Given the description of an element on the screen output the (x, y) to click on. 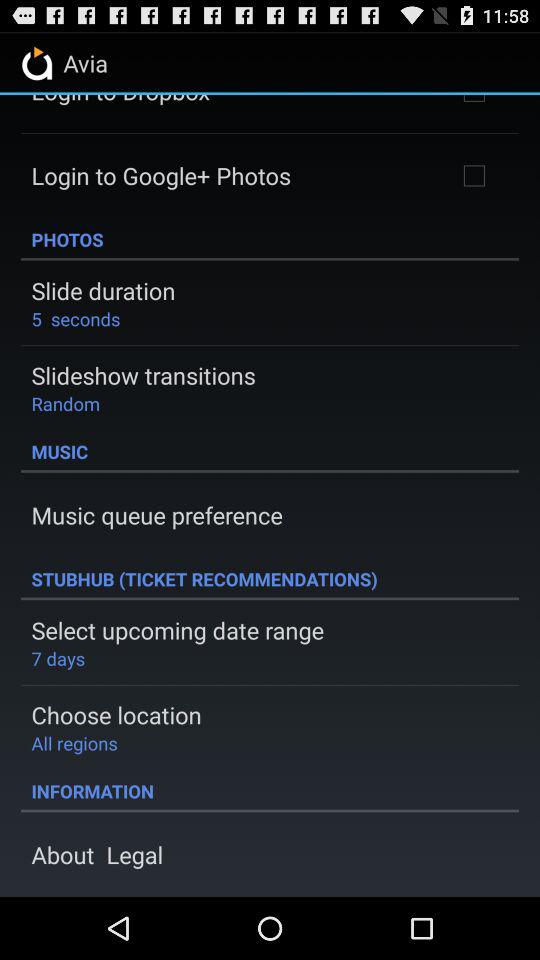
swipe to music queue preference (156, 515)
